Given the description of an element on the screen output the (x, y) to click on. 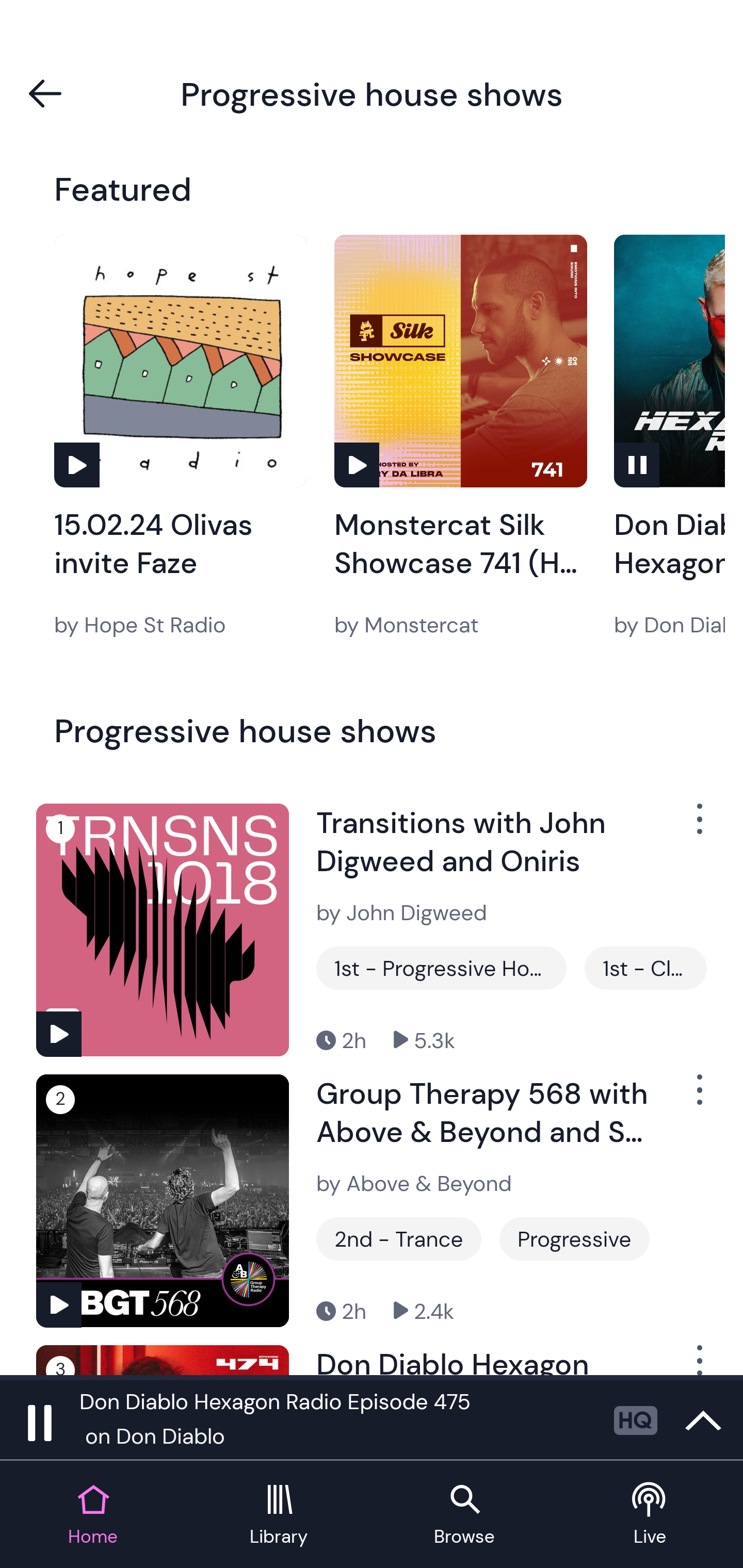
Show Options Menu Button (697, 825)
1st - Progressive House (441, 968)
1st - Club (645, 968)
Show Options Menu Button (697, 1097)
2nd - Trance (398, 1238)
Progressive (574, 1238)
Show Options Menu Button (697, 1360)
Home tab Home (92, 1515)
Library tab Library (278, 1515)
Browse tab Browse (464, 1515)
Live tab Live (650, 1515)
